Given the description of an element on the screen output the (x, y) to click on. 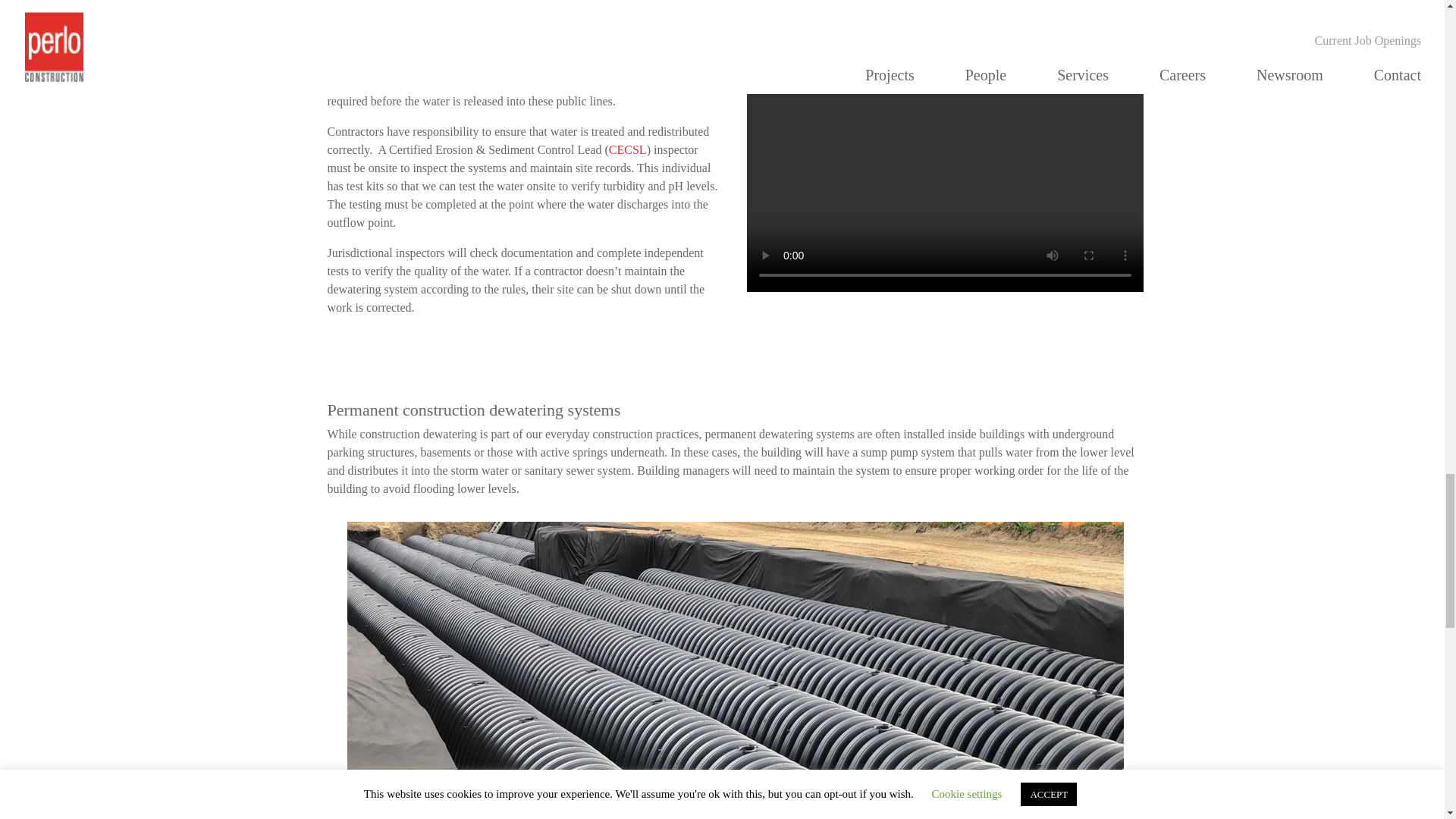
CECSL (627, 149)
